Given the description of an element on the screen output the (x, y) to click on. 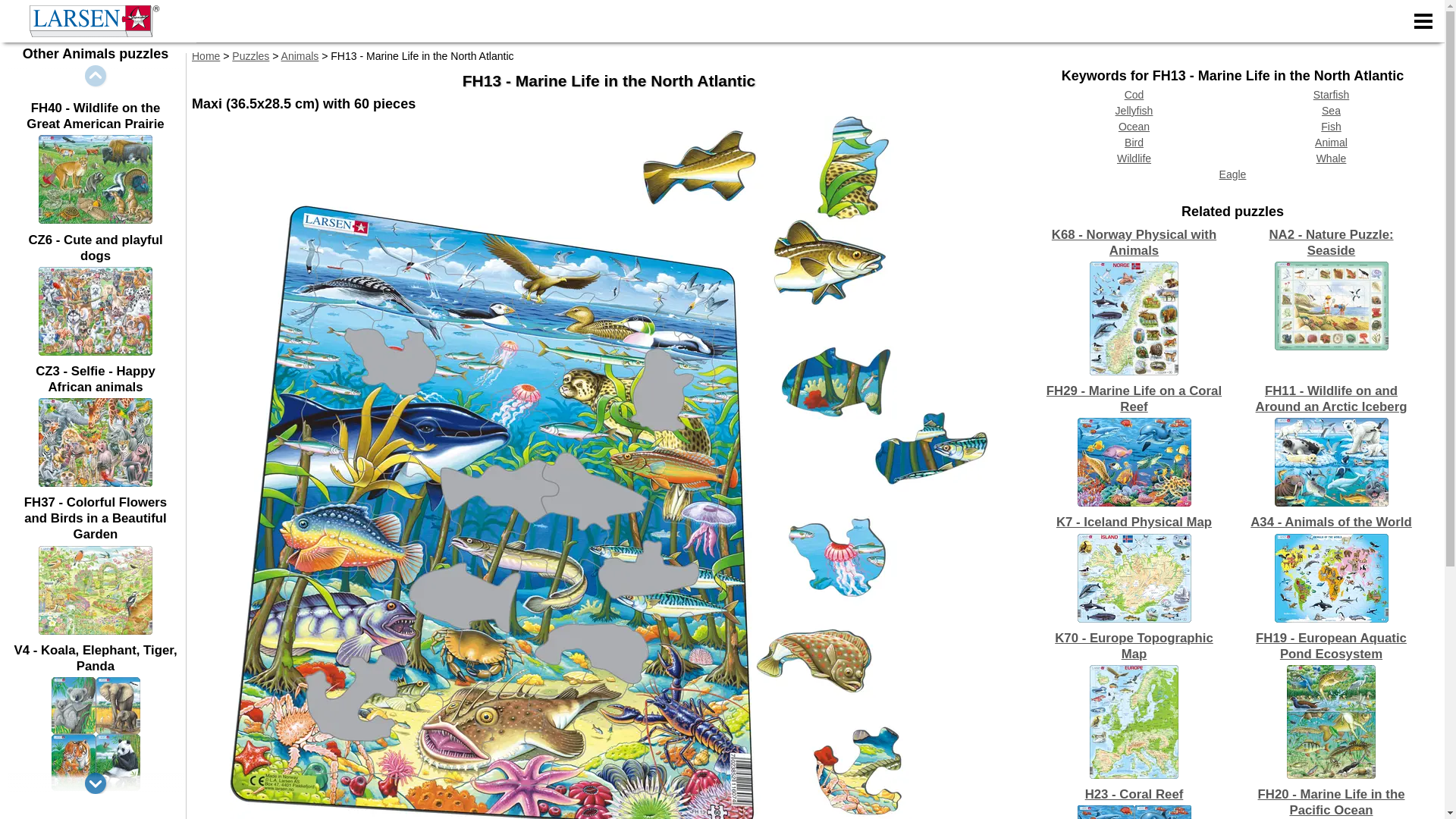
Search (1404, 79)
V4 - Koala, Elephant, Tiger, Panda (94, 787)
CZ6 - Cute and playful dogs (95, 351)
FH37 - Colorful Flowers and Birds in a Beautiful Garden (95, 630)
CZ3 - Selfie - Happy African animals (95, 482)
FH40 - Wildlife on the Great American Prairie (95, 219)
